Given the description of an element on the screen output the (x, y) to click on. 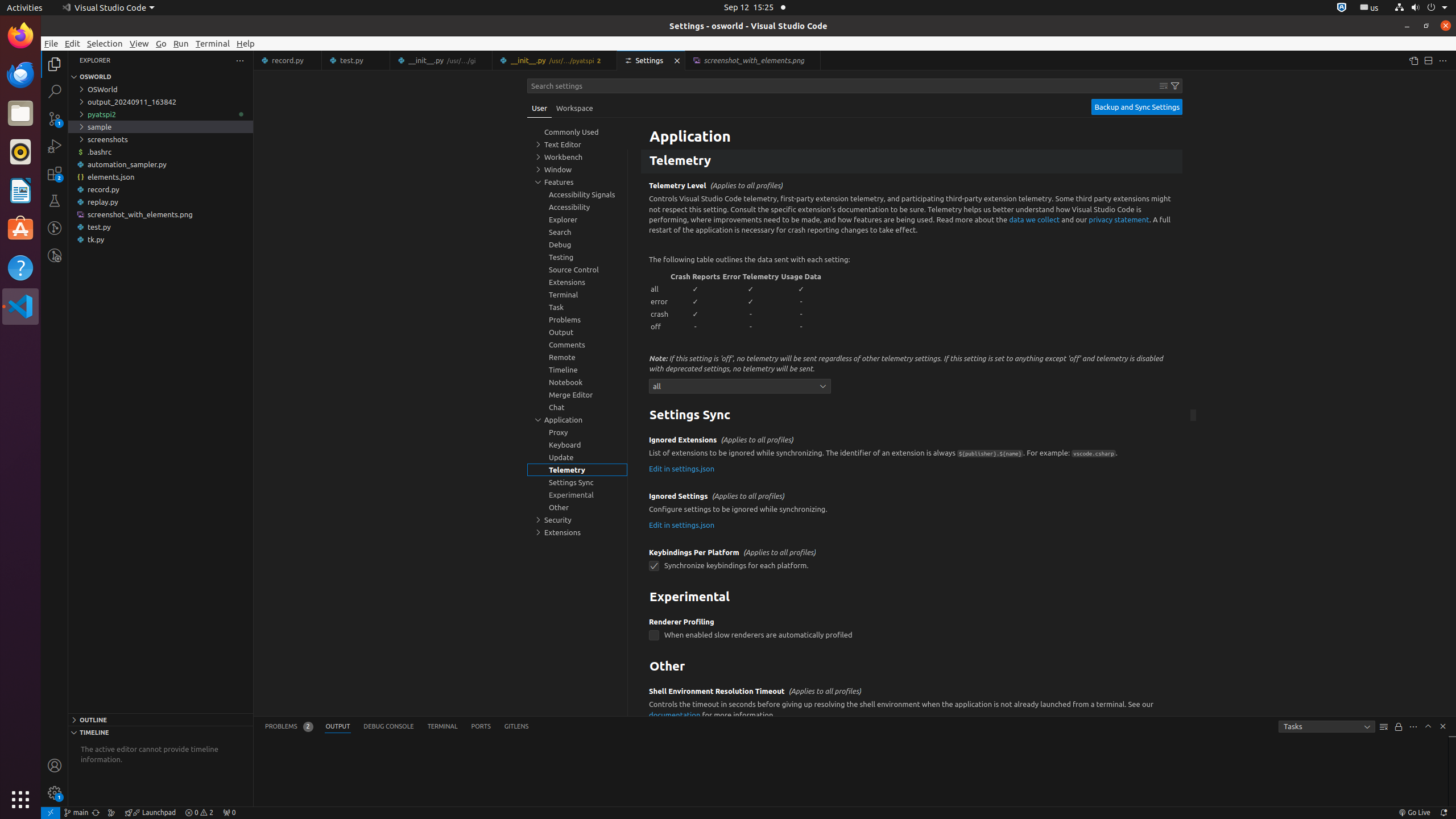
OSWorld (Git) - Synchronize Changes Element type: push-button (95, 812)
Debug, group Element type: tree-item (577, 244)
Manage - New Code update available. Element type: push-button (54, 792)
More Actions... Element type: push-button (1442, 60)
